Given the description of an element on the screen output the (x, y) to click on. 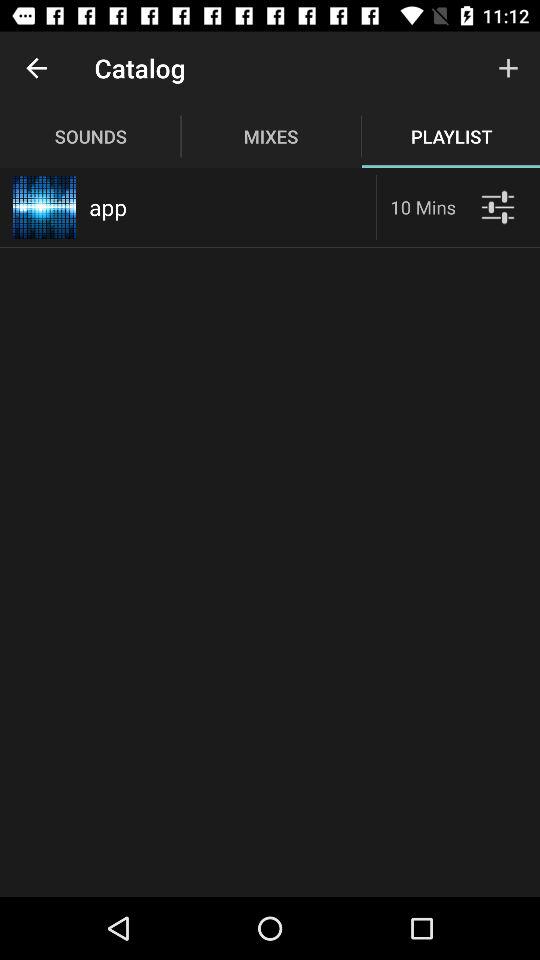
click the item above the sounds item (36, 68)
